Given the description of an element on the screen output the (x, y) to click on. 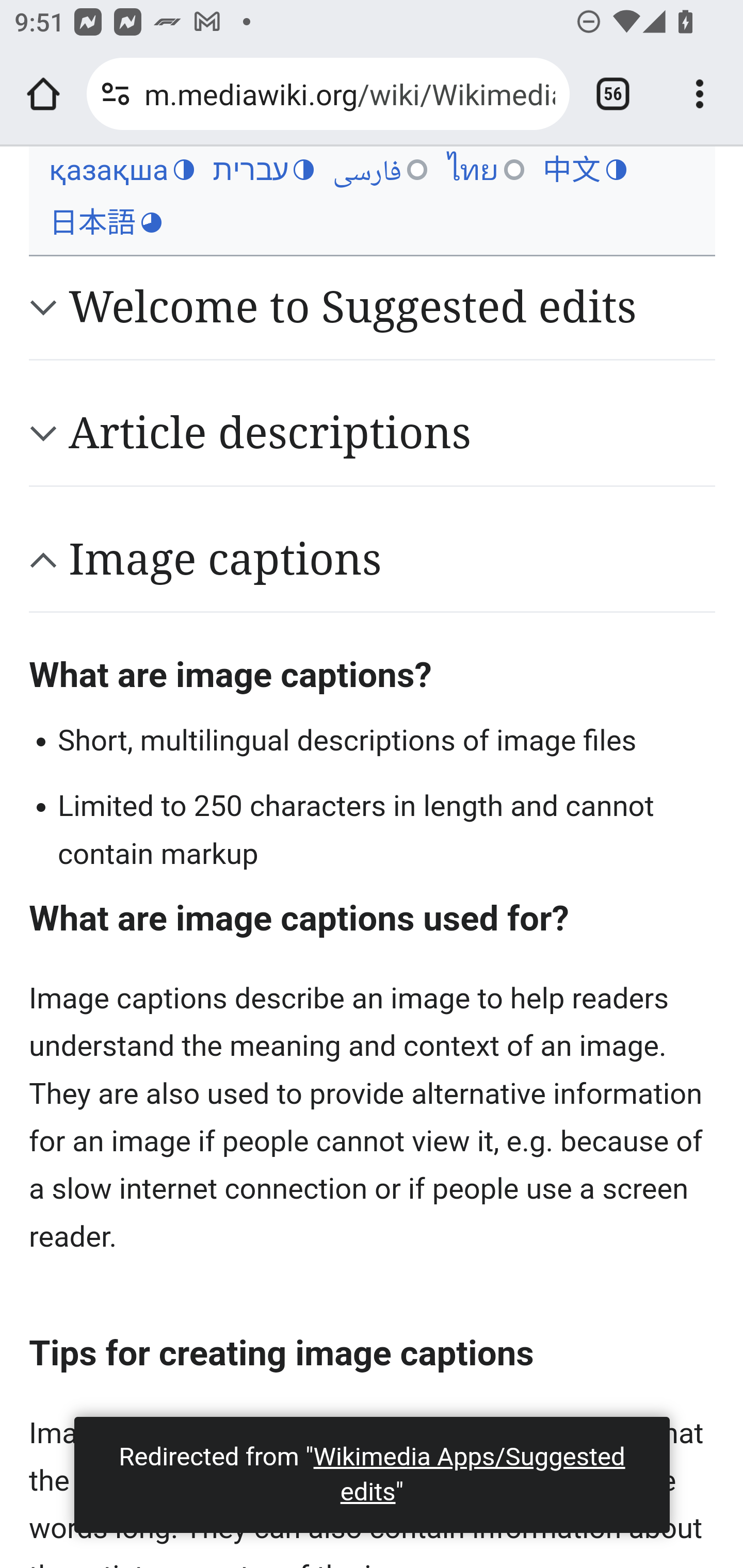
Open the home page (43, 93)
Connection is secure (115, 93)
Switch or close tabs (612, 93)
Customize and control Google Chrome (699, 93)
қазақша (121, 170)
עברית (263, 170)
فارسی (379, 170)
ไทย (484, 170)
中文 (583, 170)
日本語 (105, 222)
Welcome to Suggested edits (392, 306)
Article descriptions (392, 433)
Image captions (392, 558)
Wikimedia Apps/Suggested edits (469, 1473)
